Given the description of an element on the screen output the (x, y) to click on. 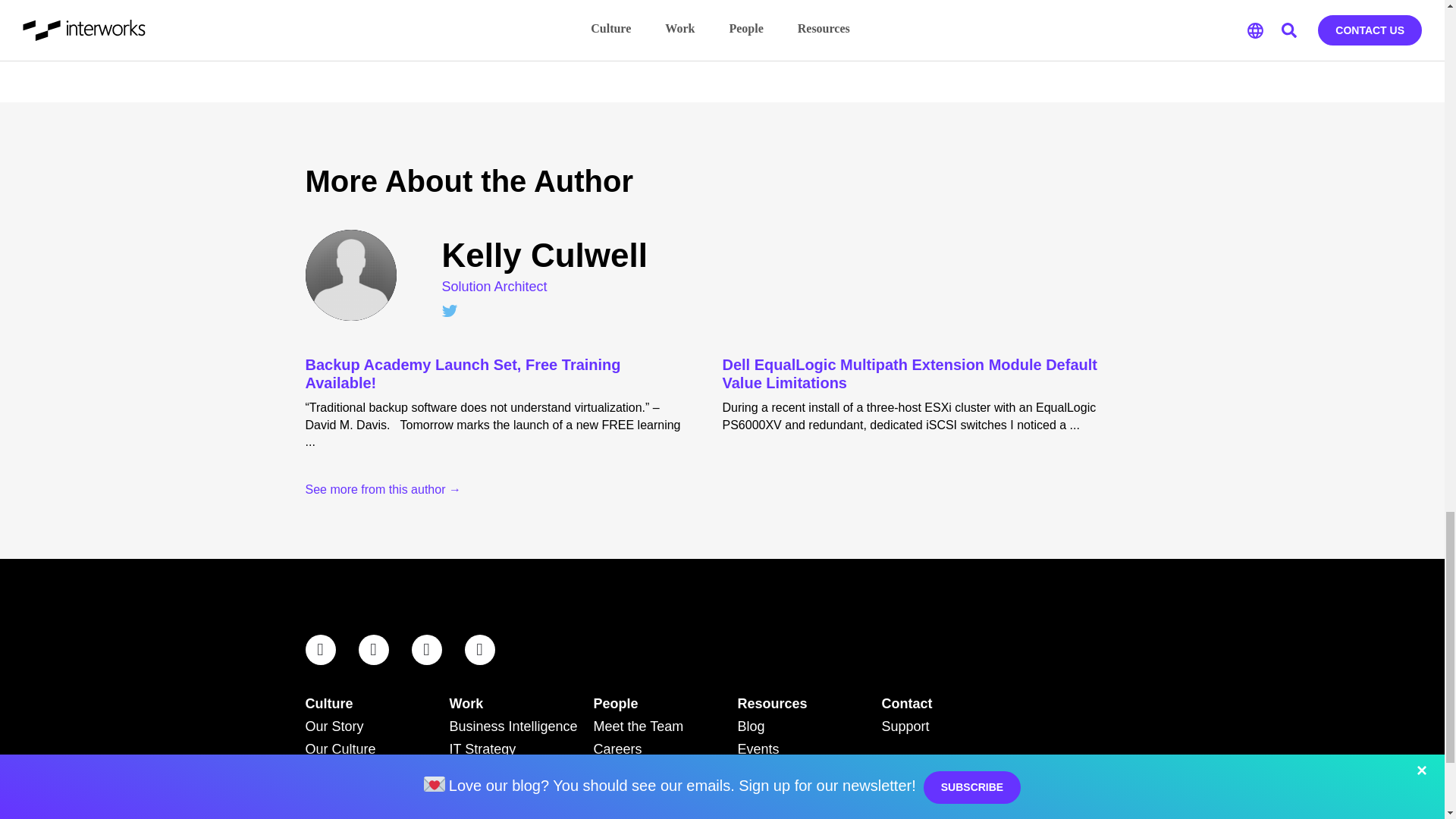
Backup Academy Launch Set, Free Training Available! (491, 373)
